Given the description of an element on the screen output the (x, y) to click on. 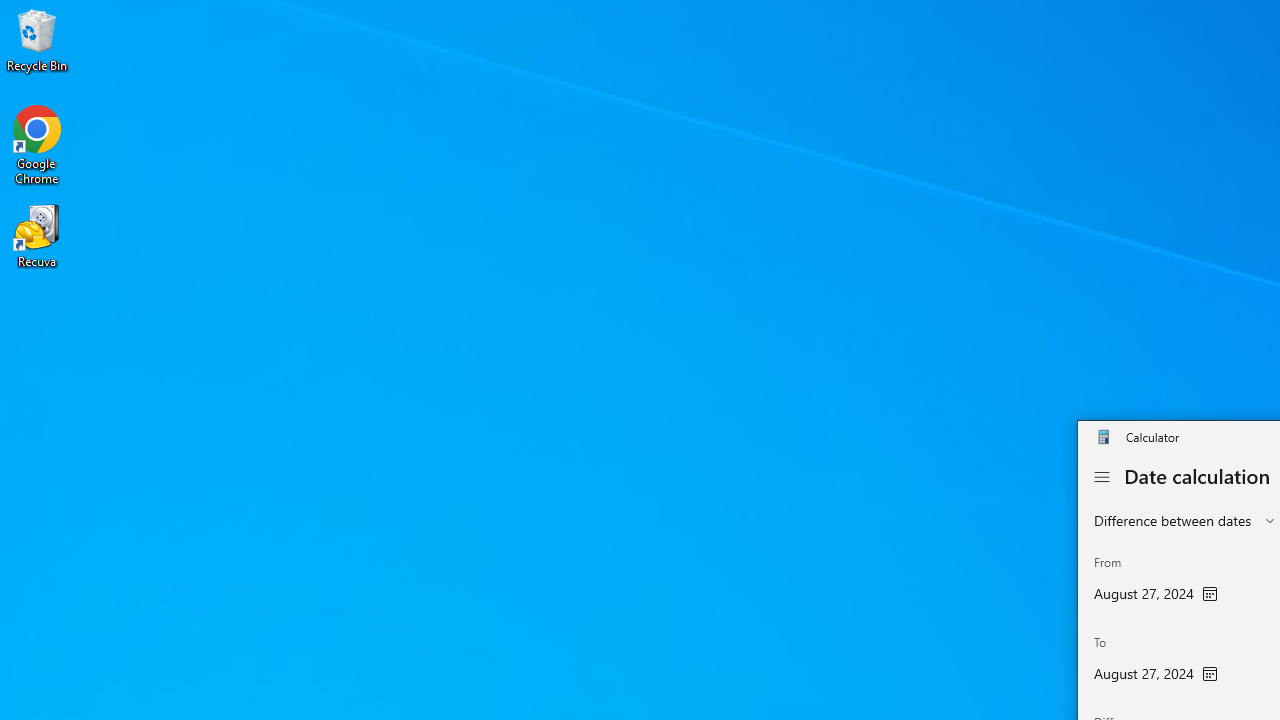
To (1155, 661)
Open Navigation (1101, 477)
Difference between dates (1172, 520)
From (1155, 581)
